Given the description of an element on the screen output the (x, y) to click on. 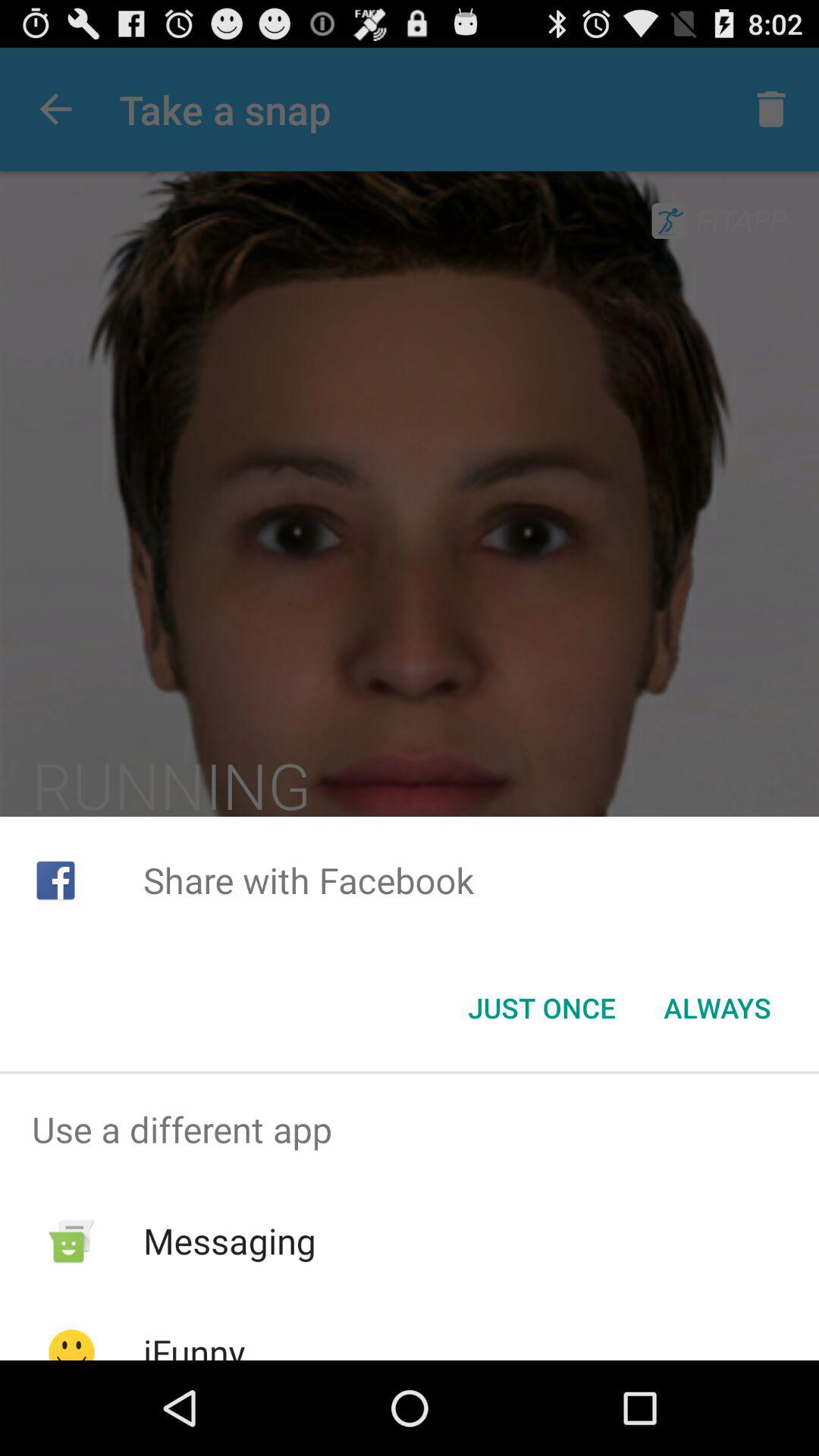
flip to the ifunny app (194, 1344)
